Given the description of an element on the screen output the (x, y) to click on. 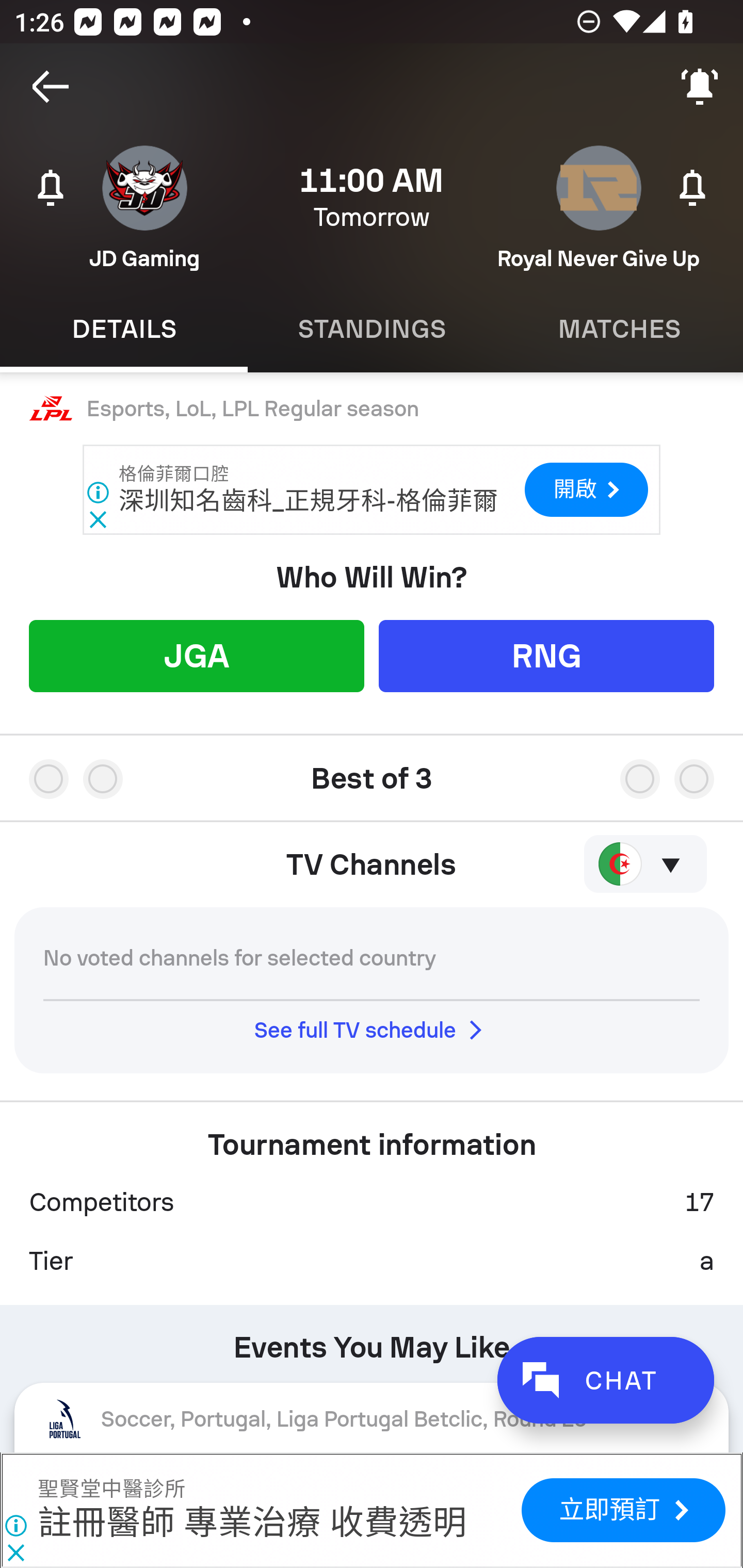
Navigate up (50, 86)
Standings STANDINGS (371, 329)
Matches MATCHES (619, 329)
Esports, LoL, LPL Regular season (371, 409)
格倫菲爾口腔 (174, 474)
開啟 (586, 489)
深圳知名齒科_正規牙科-格倫菲爾 (308, 500)
JGA (196, 655)
RNG (546, 655)
Best of 3 (371, 771)
See full TV schedule (371, 1029)
CHAT (605, 1380)
聖賢堂中醫診所 (111, 1489)
立即預訂 (623, 1510)
註冊醫師 專業治療 收費透明 (252, 1523)
